Given the description of an element on the screen output the (x, y) to click on. 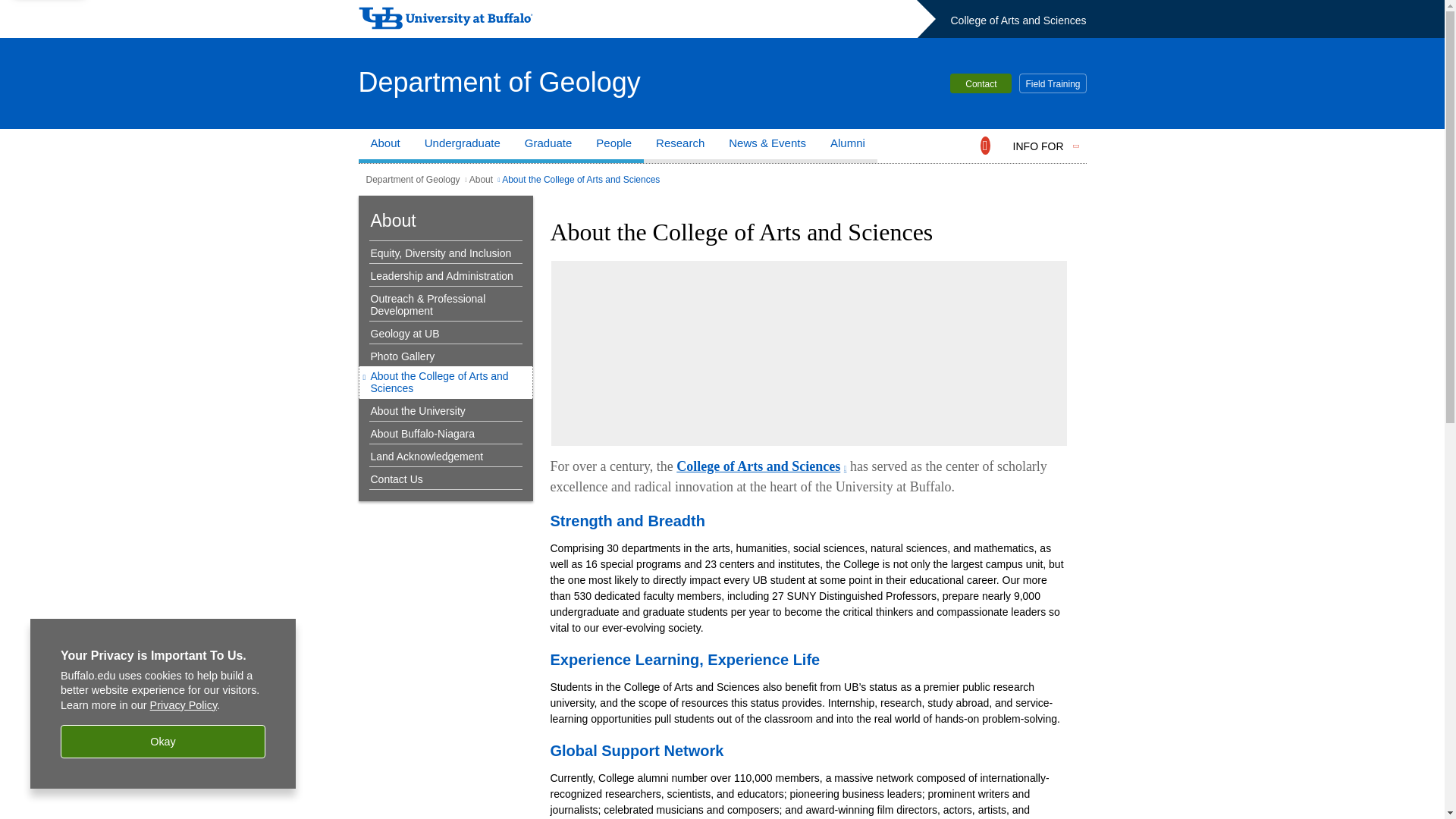
About (480, 179)
Research (679, 145)
Equity, Diversity and Inclusion (441, 253)
Leadership and Administration (441, 275)
Contact (980, 83)
About the College of Arts and Sciences (445, 381)
About (385, 145)
This link opens a page in a new window or tab. (761, 466)
Geology at UB (441, 333)
INFO FOR (1038, 146)
